Given the description of an element on the screen output the (x, y) to click on. 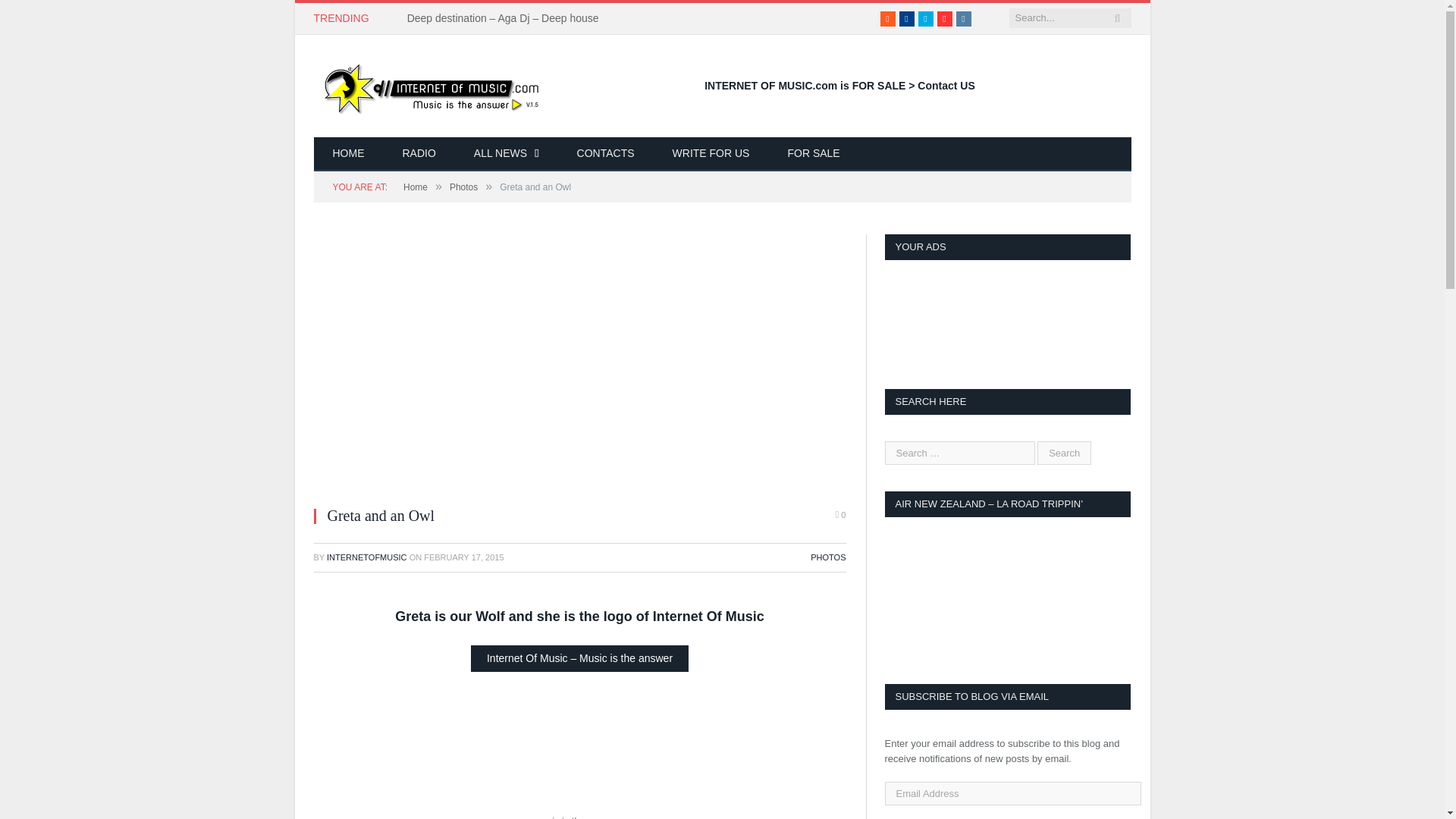
RSS (887, 18)
Search (1063, 453)
RADIO (419, 154)
Search (1063, 453)
ALL NEWS (505, 154)
Instagram (963, 18)
HOME (349, 154)
Facebook (906, 18)
Twitter (925, 18)
Youtube (944, 18)
